Given the description of an element on the screen output the (x, y) to click on. 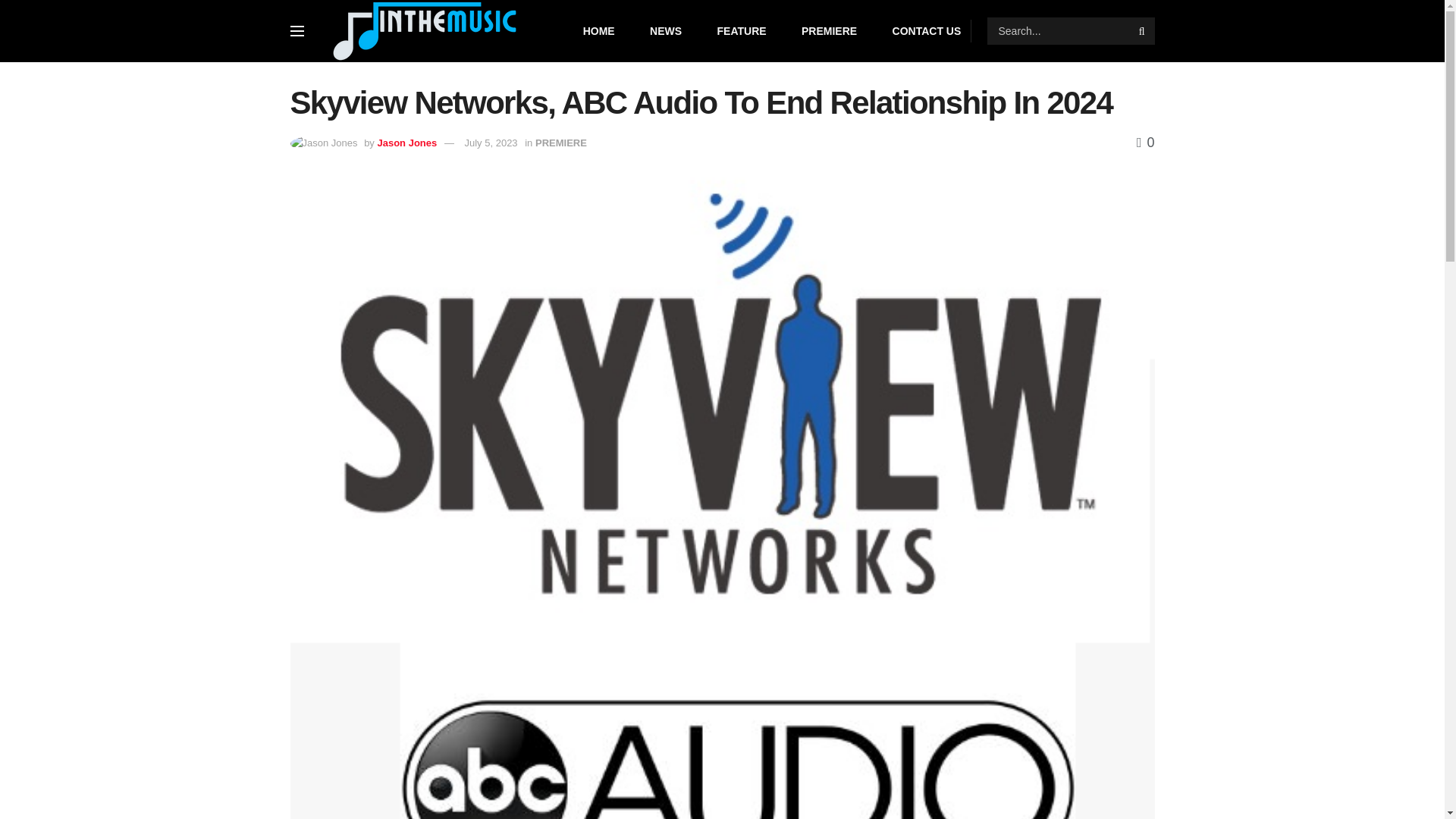
Jason Jones (406, 142)
FEATURE (742, 30)
0 (1145, 142)
PREMIERE (829, 30)
CONTACT US (926, 30)
July 5, 2023 (490, 142)
PREMIERE (560, 142)
NEWS (665, 30)
HOME (598, 30)
